Given the description of an element on the screen output the (x, y) to click on. 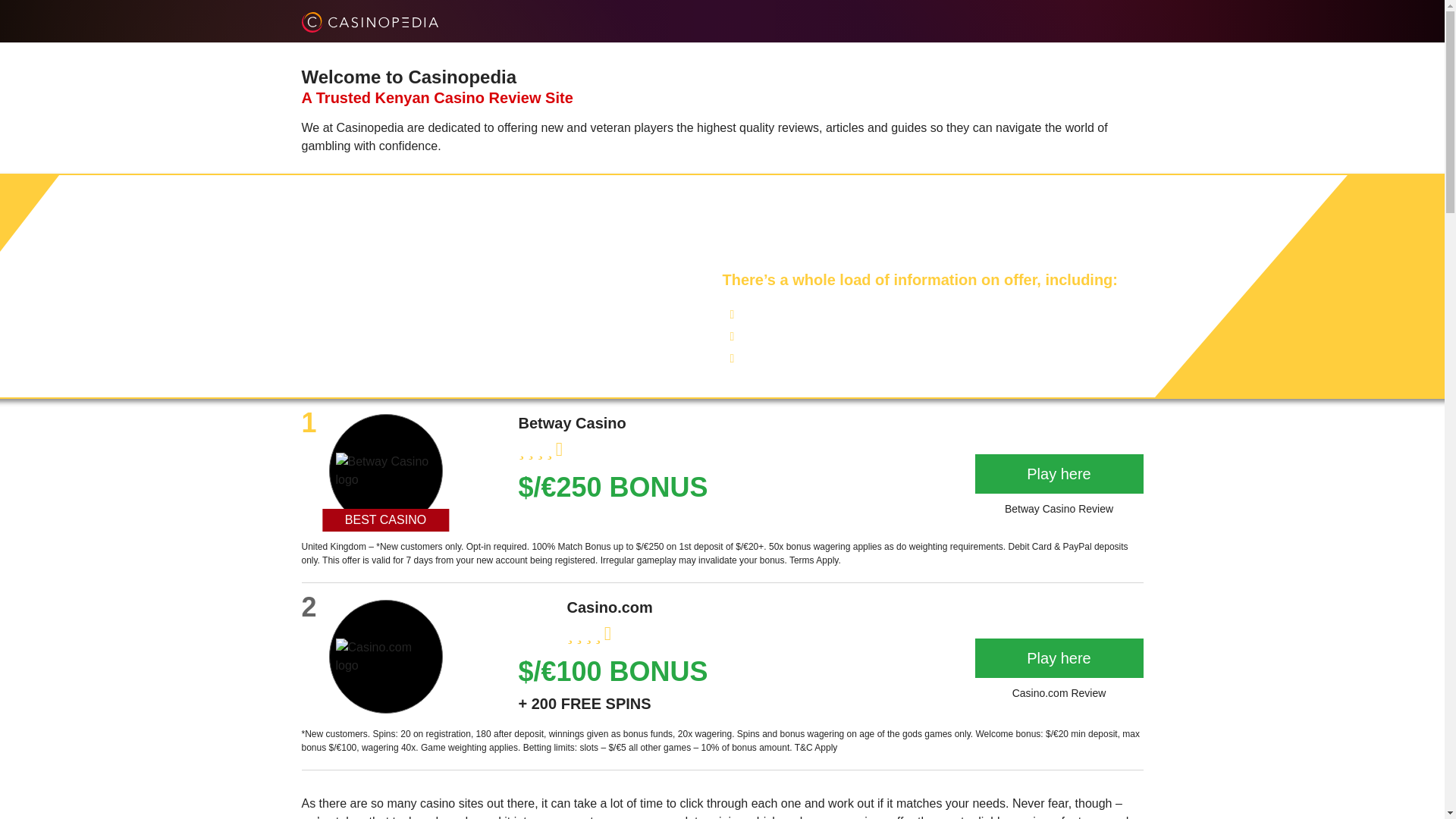
Play here (1058, 658)
Betway Casino Review (1058, 504)
Play here (1058, 473)
Casino.com Review (1058, 689)
